Given the description of an element on the screen output the (x, y) to click on. 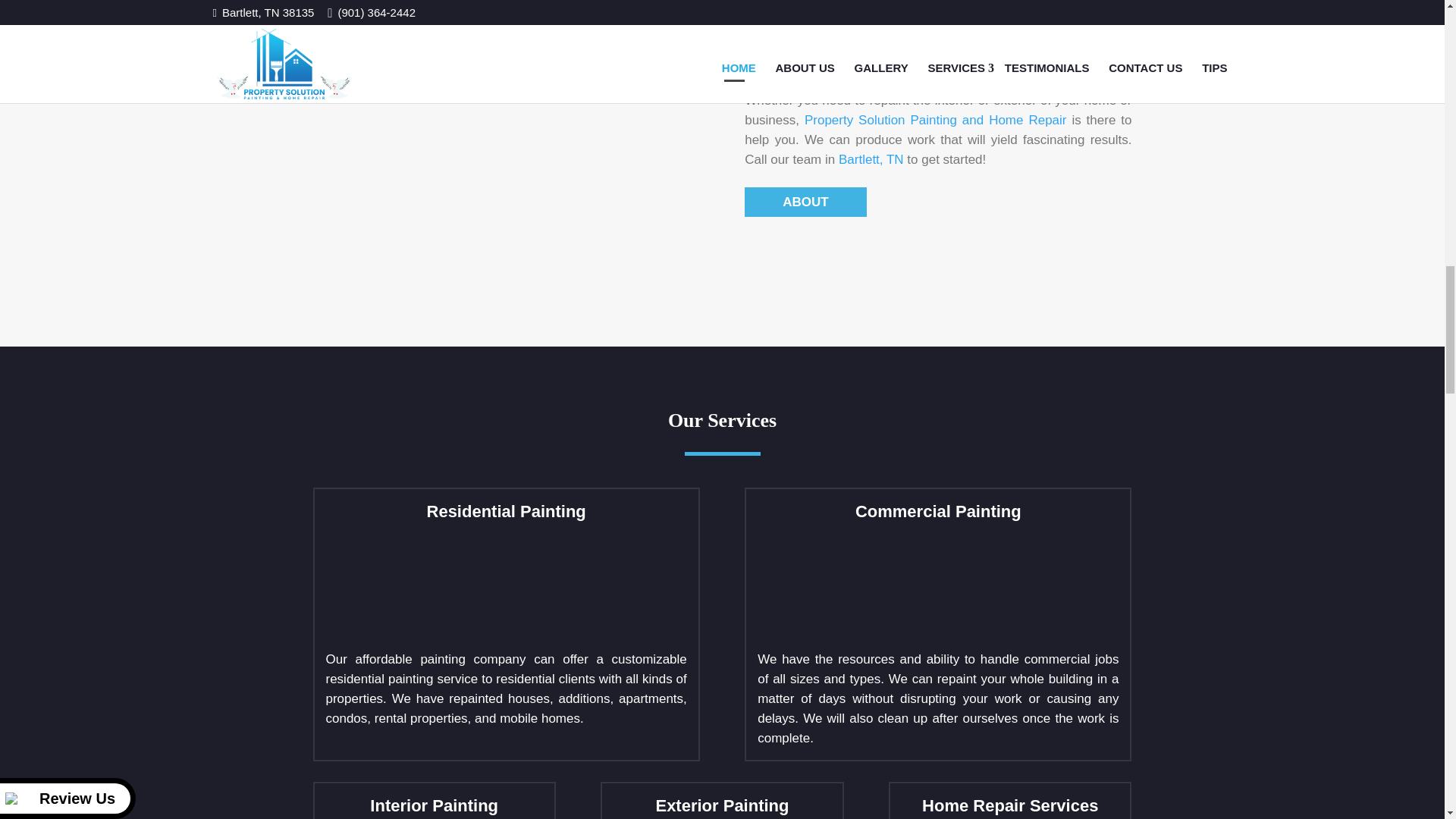
Learn More About Our Company (936, 120)
Property Solution Painting and Home Repair (936, 120)
Commercial Painting (871, 586)
Bartlett, TN (871, 159)
Residential Painting (439, 586)
Read more about Property Solution Painting and Home Repair (805, 202)
ABOUT (805, 202)
painter (506, 142)
